Given the description of an element on the screen output the (x, y) to click on. 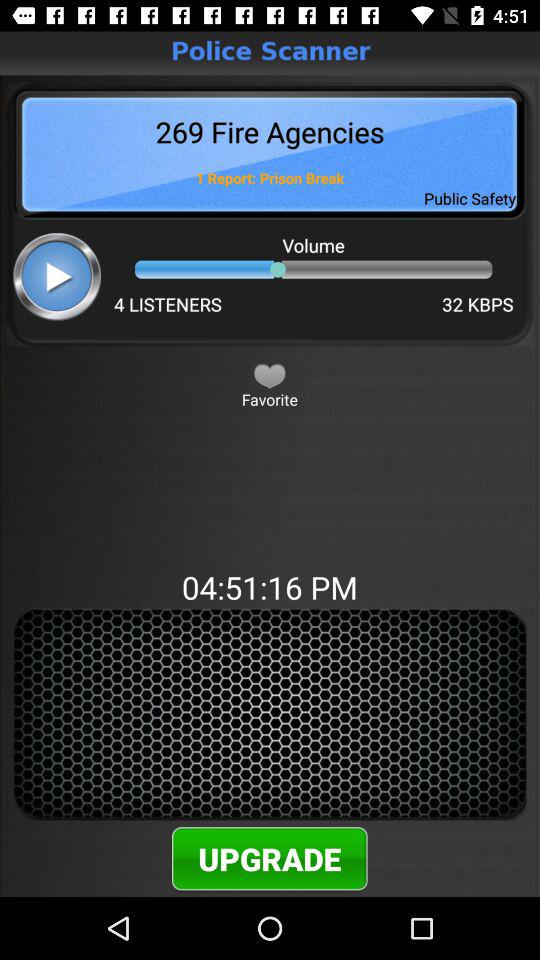
click the play button to hear the music (56, 276)
